Given the description of an element on the screen output the (x, y) to click on. 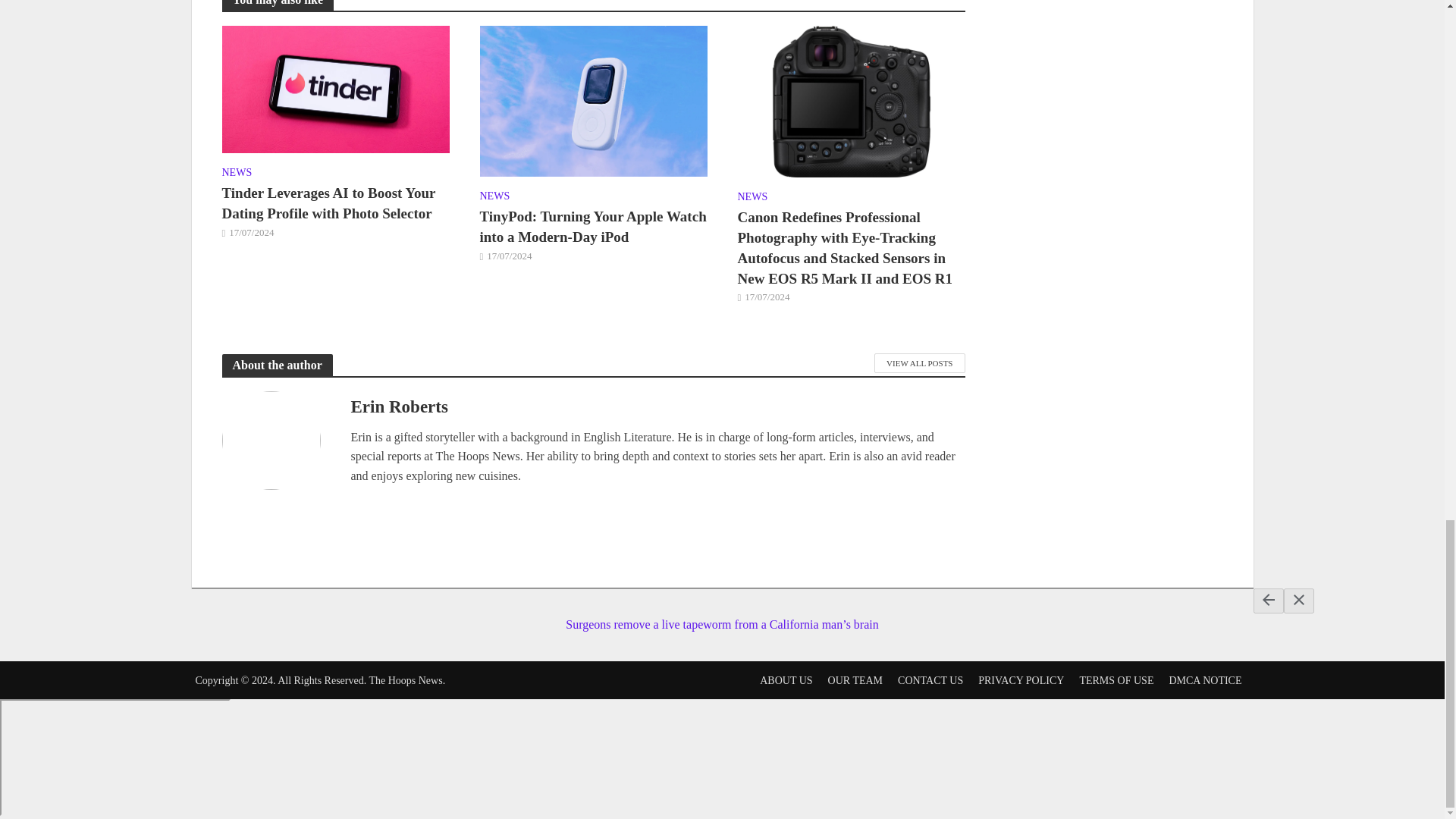
TinyPod: Turning Your Apple Watch into a Modern-Day iPod (592, 99)
TinyPod: Turning Your Apple Watch into a Modern-Day iPod 2 (592, 100)
VIEW ALL POSTS (919, 362)
NEWS (751, 198)
TinyPod: Turning Your Apple Watch into a Modern-Day iPod (592, 227)
NEWS (494, 198)
NEWS (236, 174)
